Given the description of an element on the screen output the (x, y) to click on. 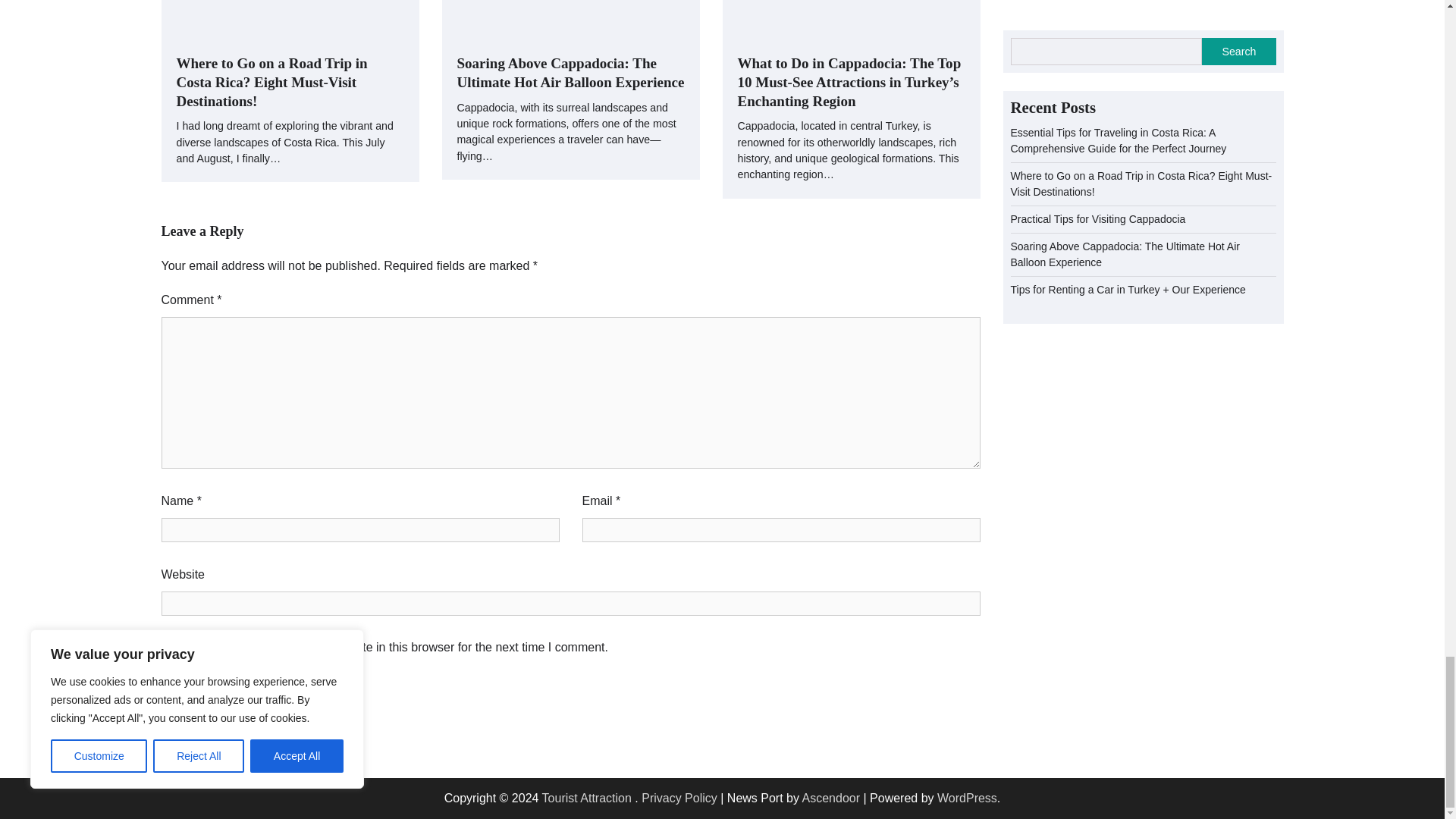
yes (165, 649)
Post Comment (208, 700)
Post Comment (208, 700)
